Given the description of an element on the screen output the (x, y) to click on. 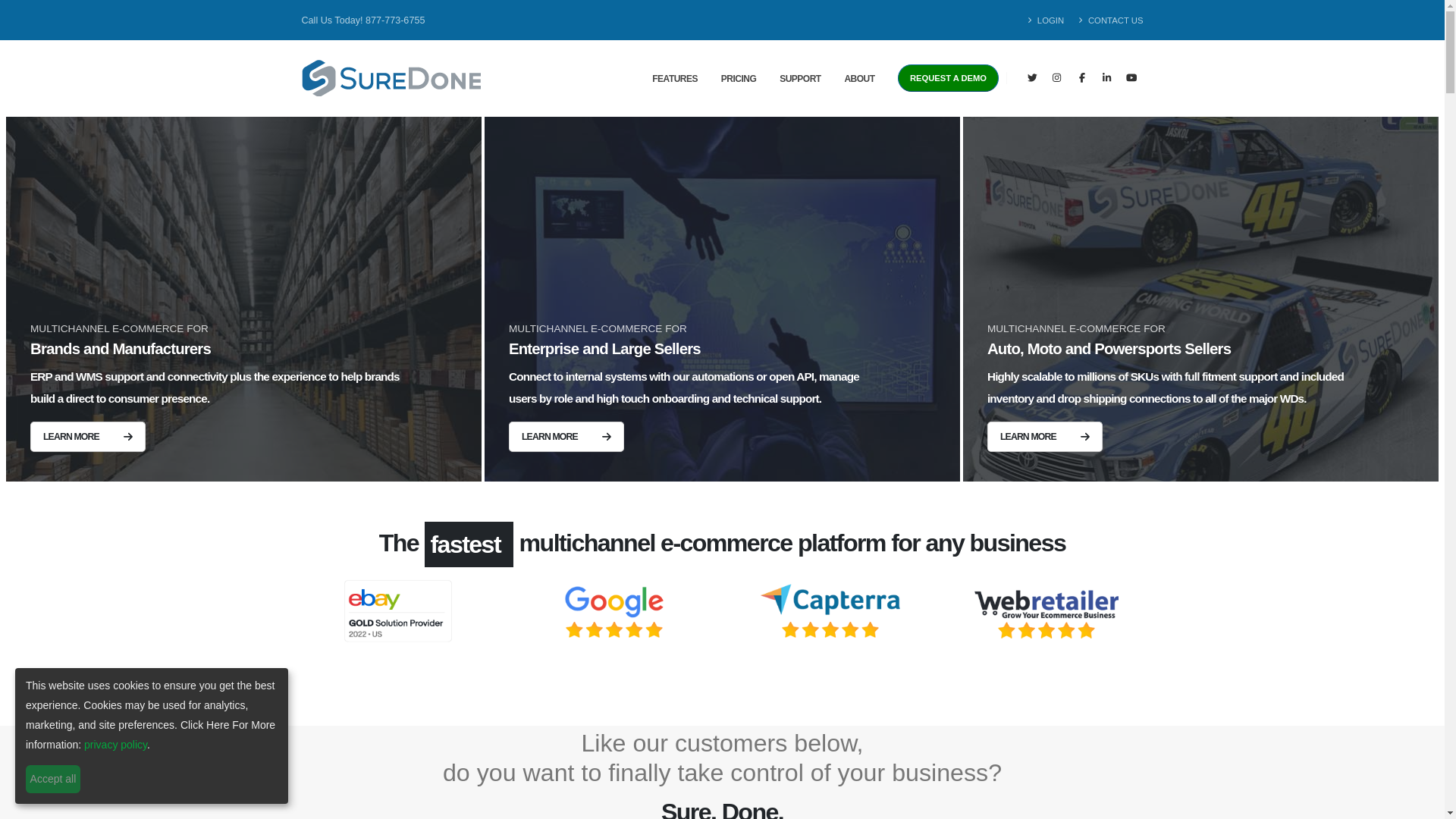
FEATURES (675, 78)
Instagram (1056, 77)
CONTACT US (1106, 19)
LOGIN (1049, 19)
Facebook (1082, 77)
YouTube (1131, 77)
Linkedin (1107, 77)
Twitter (1032, 77)
